Given the description of an element on the screen output the (x, y) to click on. 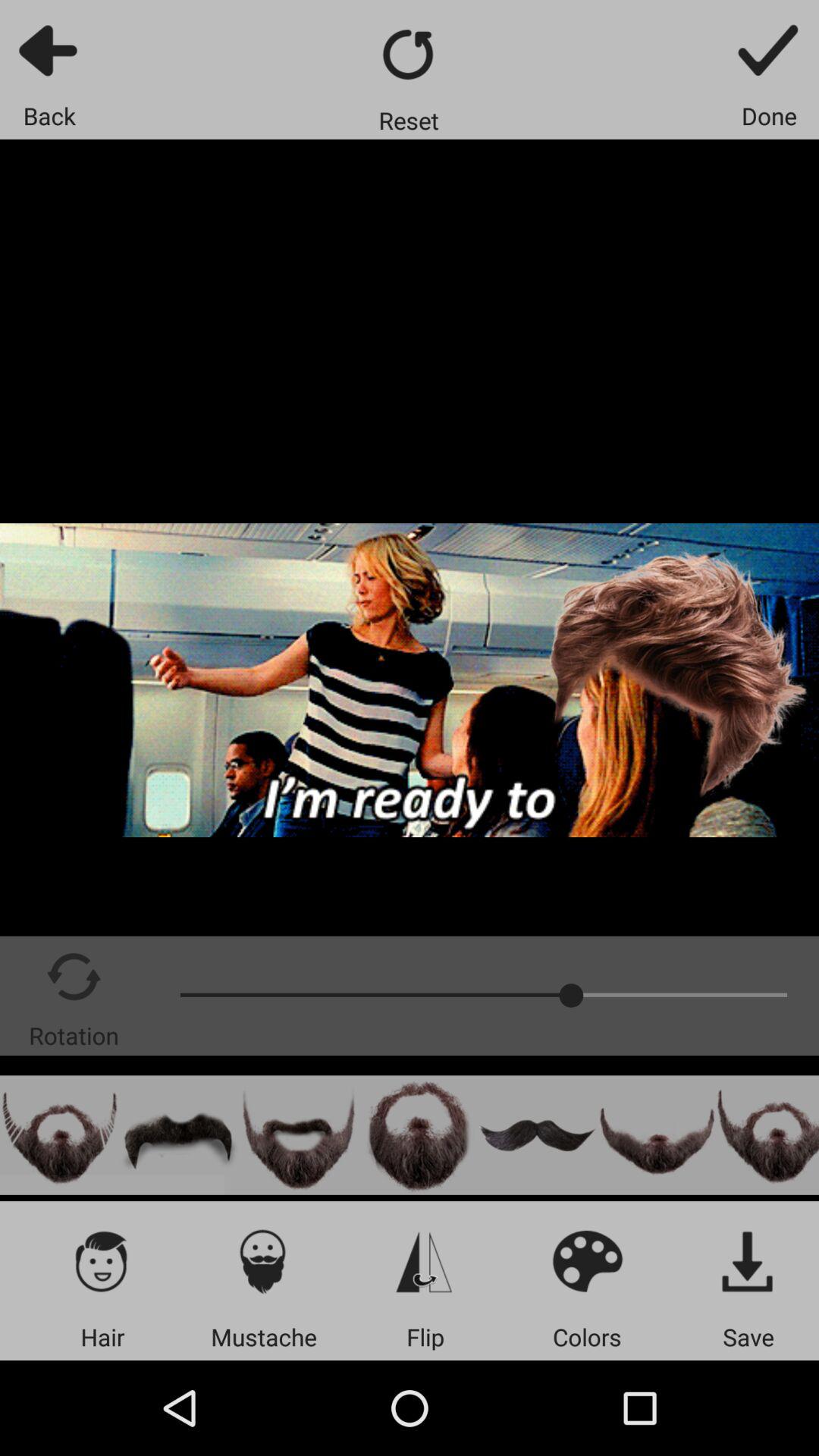
choose a style (59, 1134)
